Given the description of an element on the screen output the (x, y) to click on. 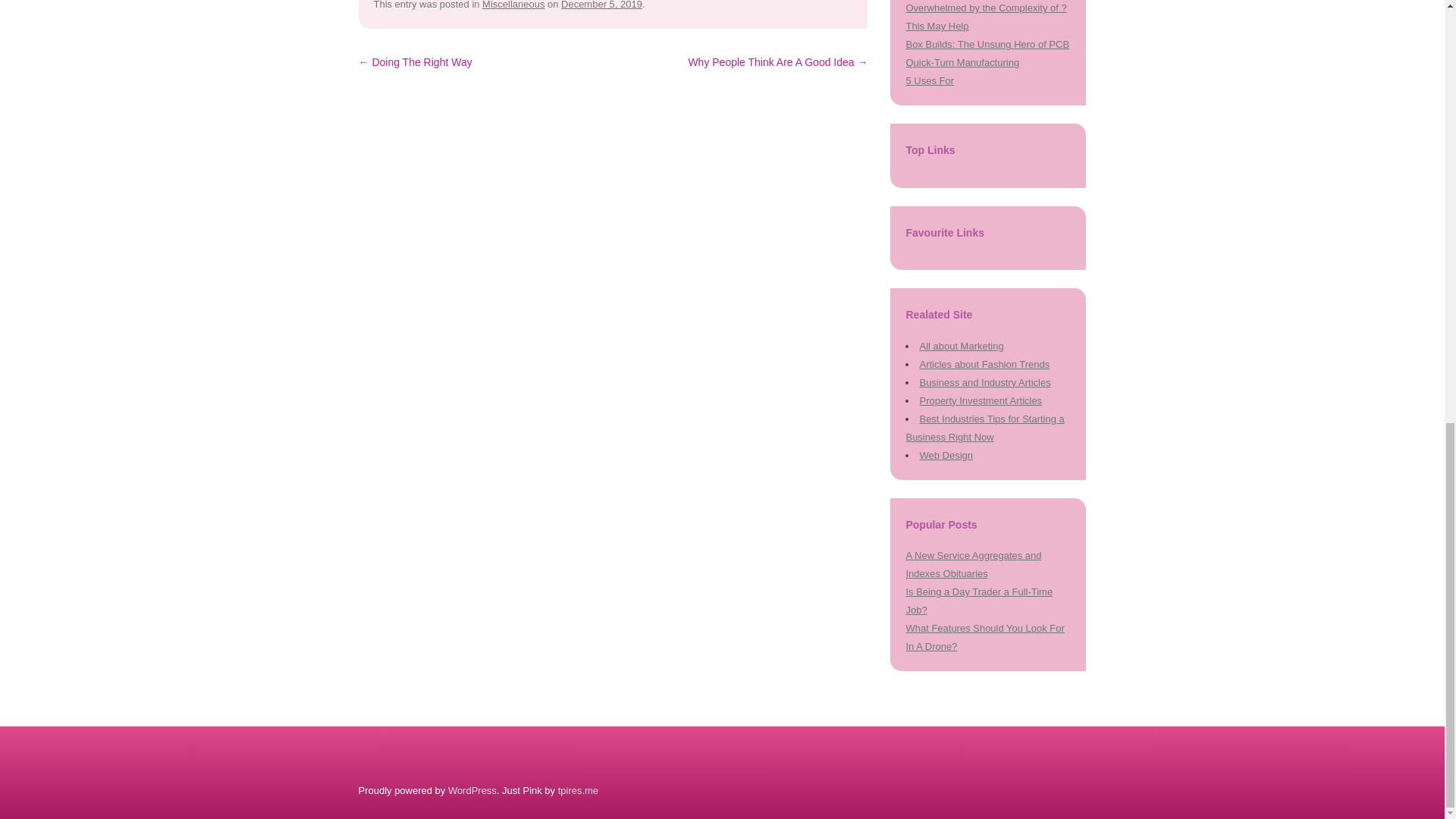
December 5, 2019 (601, 4)
What Features Should You Look For In A Drone? (984, 636)
Semantic Personal Publishing Platform (472, 790)
4:59 pm (601, 4)
Is Being a Day Trader a Full-Time Job? (978, 600)
A New Service Aggregates and Indexes Obituaries (973, 564)
Miscellaneous (512, 4)
